Given the description of an element on the screen output the (x, y) to click on. 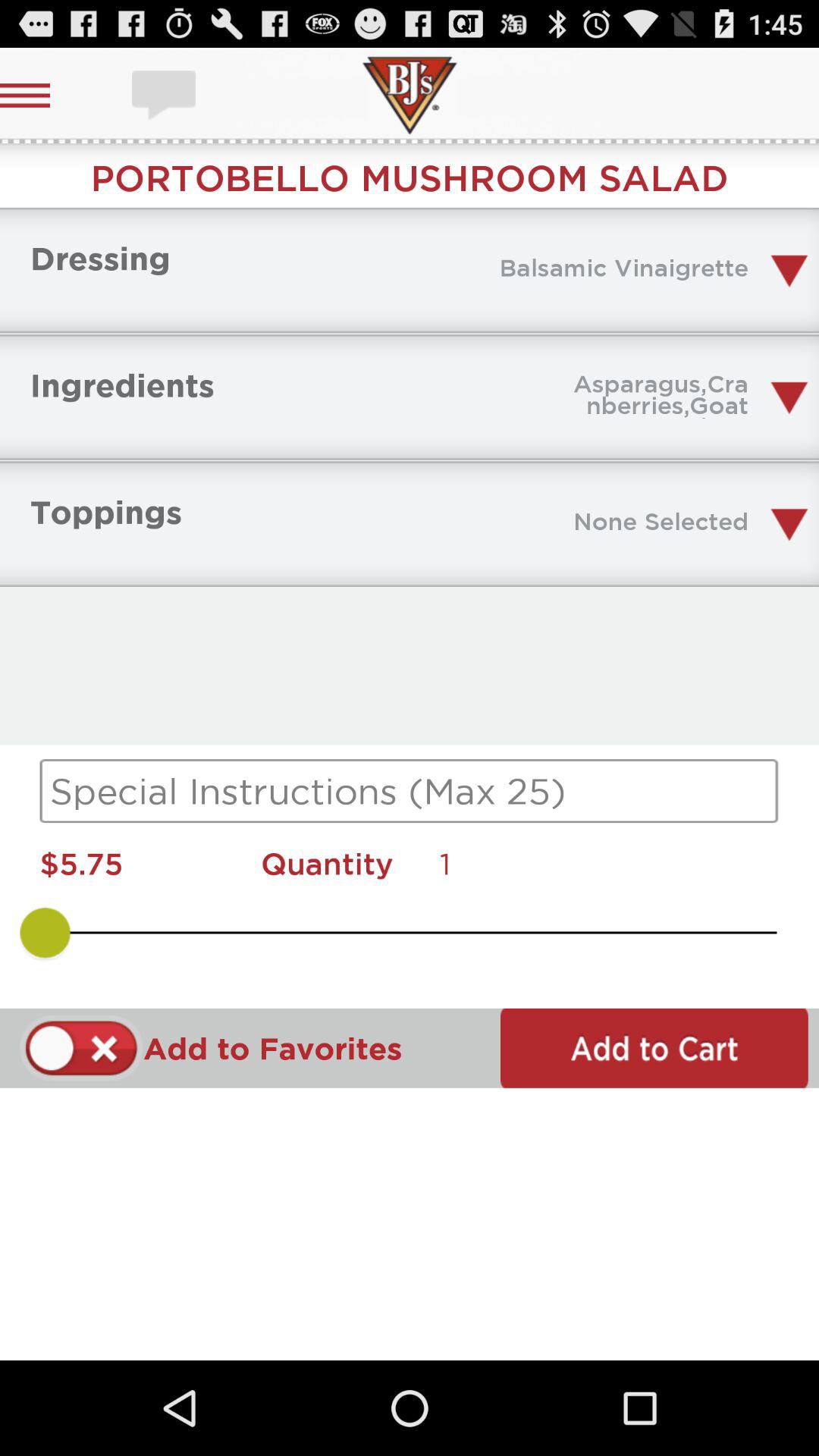
read instructions (409, 790)
